Given the description of an element on the screen output the (x, y) to click on. 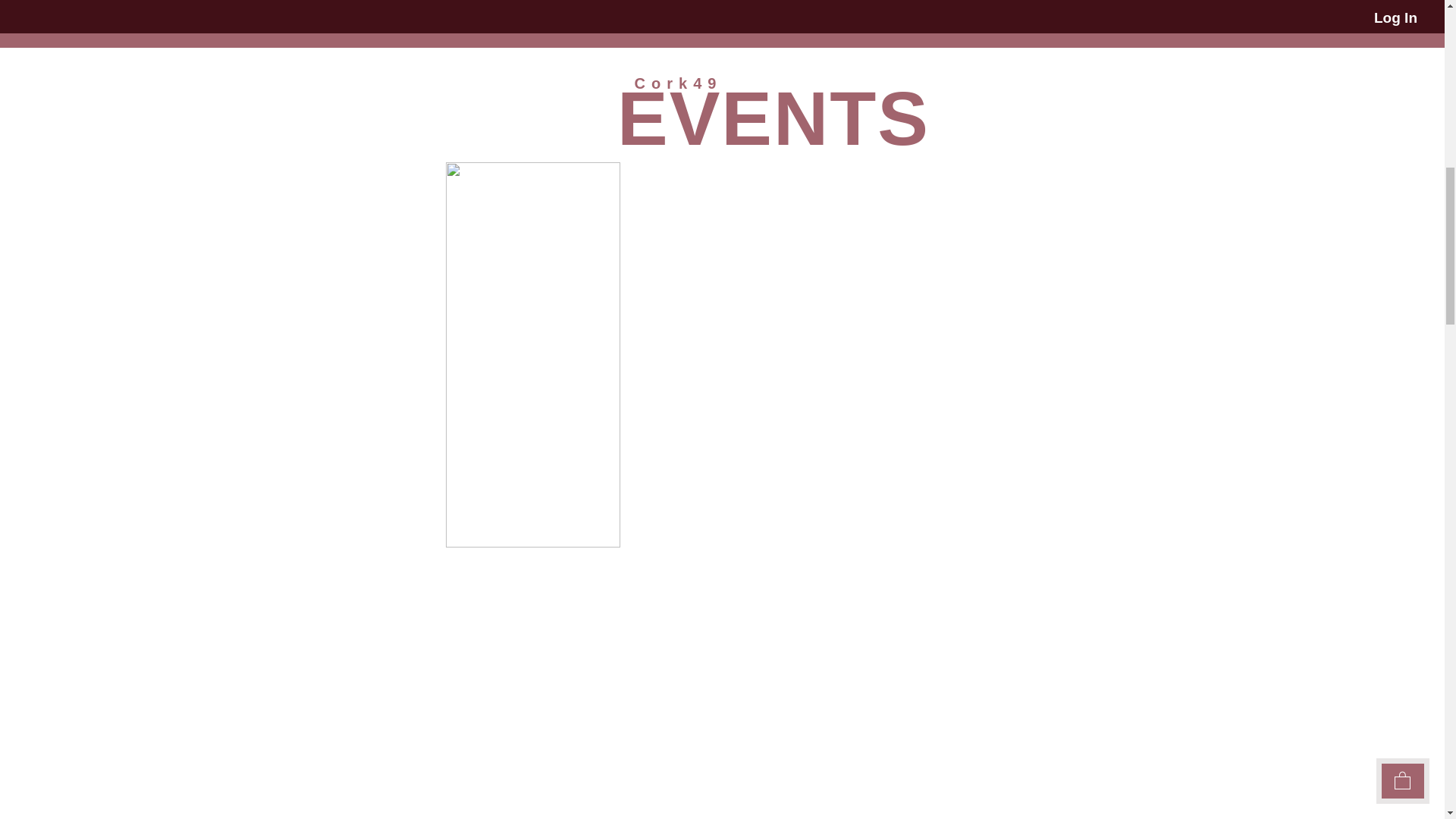
Join Now! (714, 9)
